Given the description of an element on the screen output the (x, y) to click on. 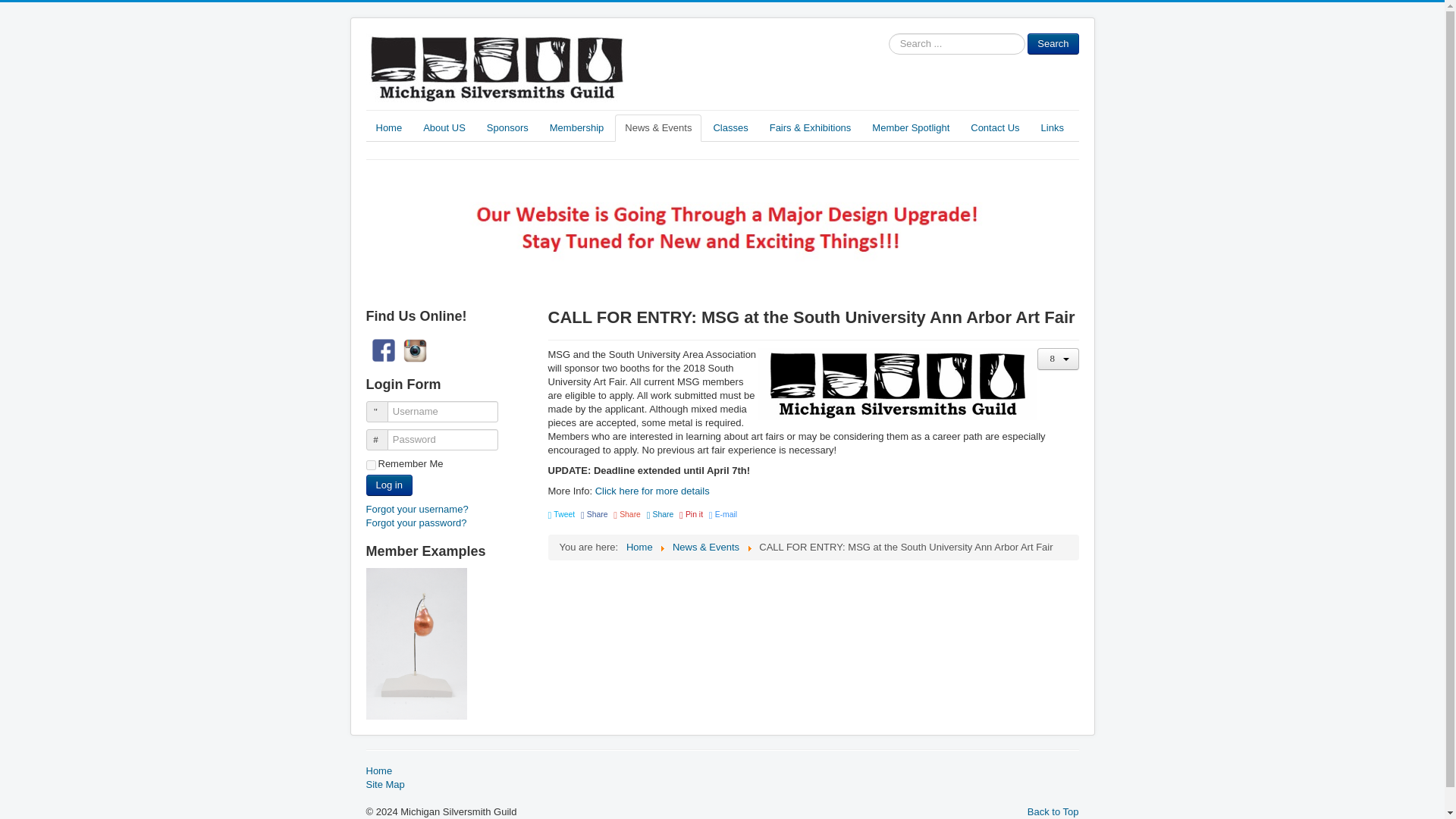
Membership (577, 127)
Home (388, 127)
Back to Top (1052, 811)
Classes (730, 127)
Links (1052, 127)
Share (594, 514)
yes (370, 465)
Member Spotlight (910, 127)
Log in (388, 485)
Contact Us (994, 127)
Forgot your password? (415, 522)
Site Map (721, 784)
Home (639, 546)
Share (660, 514)
Share (626, 514)
